Given the description of an element on the screen output the (x, y) to click on. 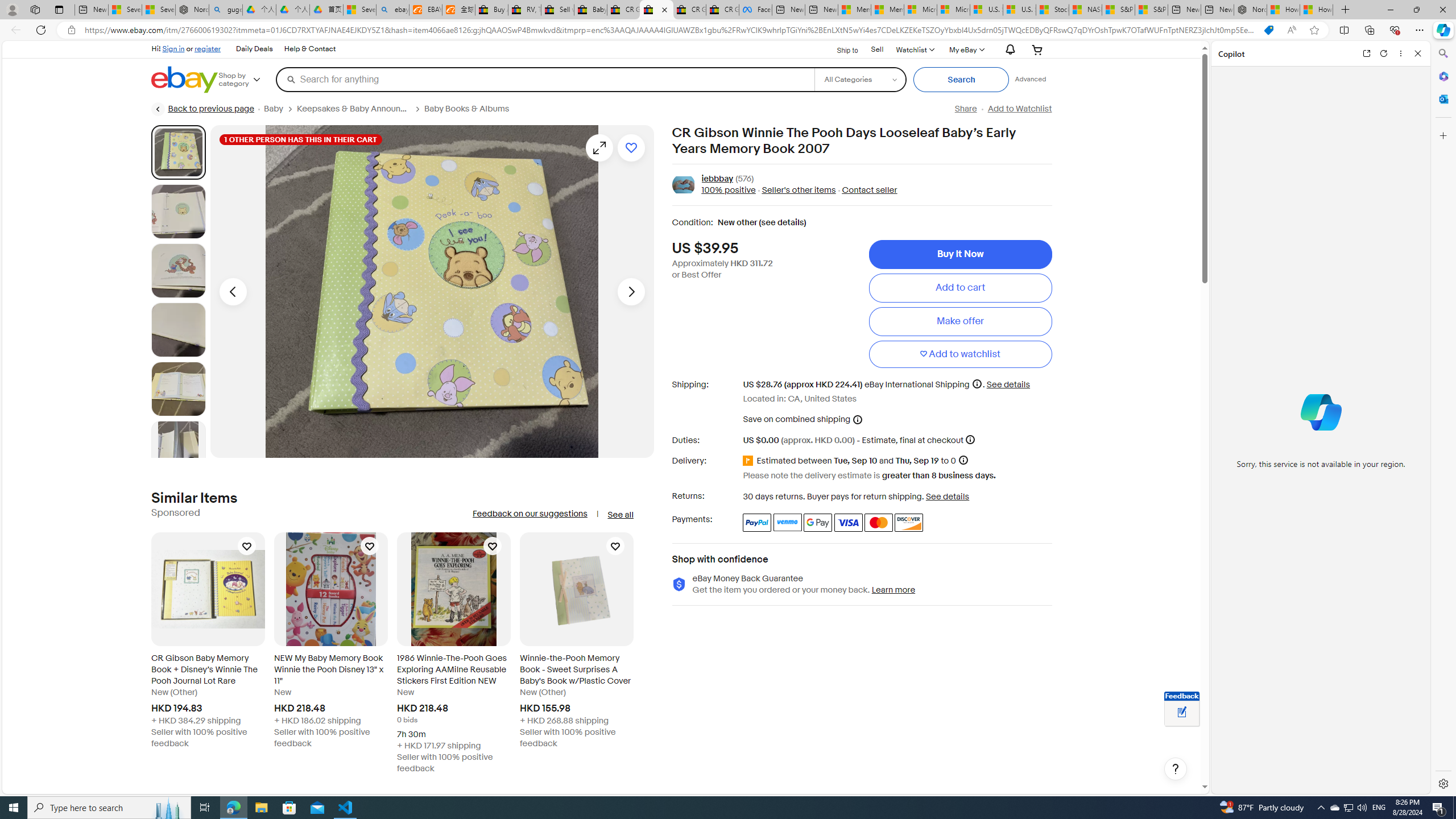
Customize (1442, 135)
Advanced Search (1030, 78)
Keepsakes & Baby Announcements (353, 108)
Sell (877, 49)
PayPal (756, 521)
Baby Books & Albums (466, 108)
See details for shipping (1007, 383)
